Given the description of an element on the screen output the (x, y) to click on. 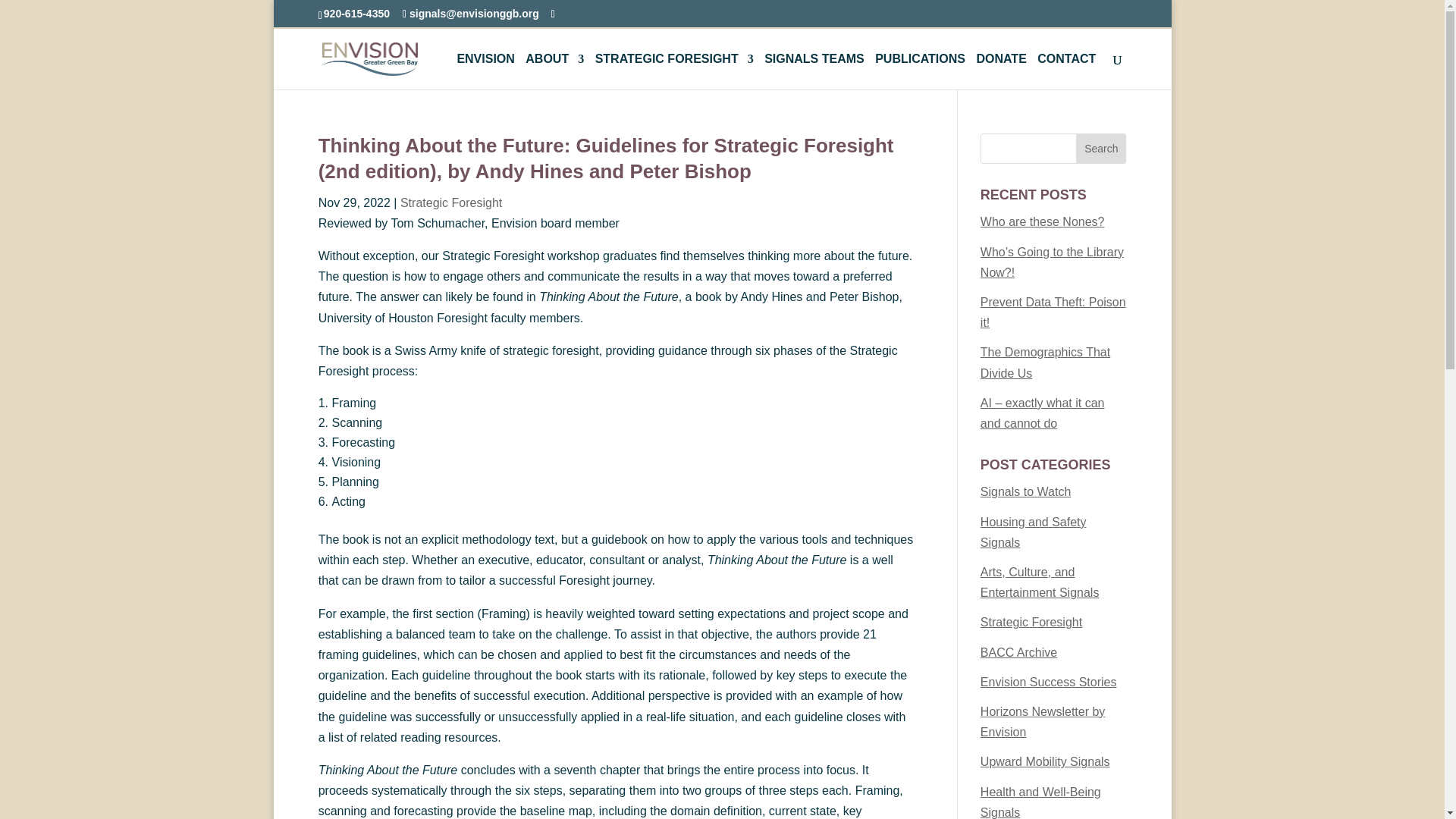
ENVISION (485, 71)
PUBLICATIONS (920, 71)
CONTACT (1066, 71)
STRATEGIC FORESIGHT (674, 71)
ABOUT (554, 71)
DONATE (1000, 71)
SIGNALS TEAMS (814, 71)
Search (1100, 148)
